Given the description of an element on the screen output the (x, y) to click on. 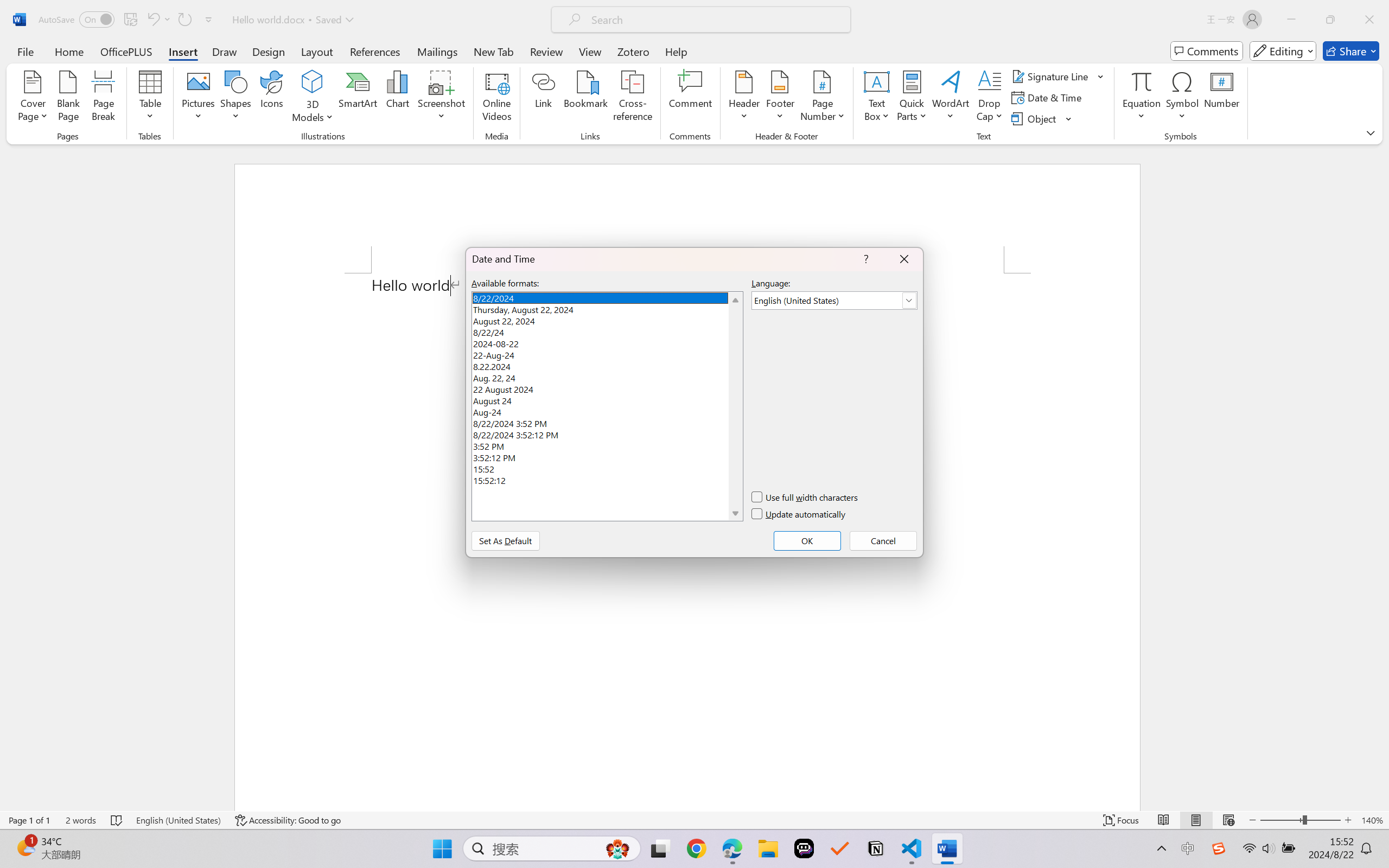
Auto-detect (1272, 136)
